Given the description of an element on the screen output the (x, y) to click on. 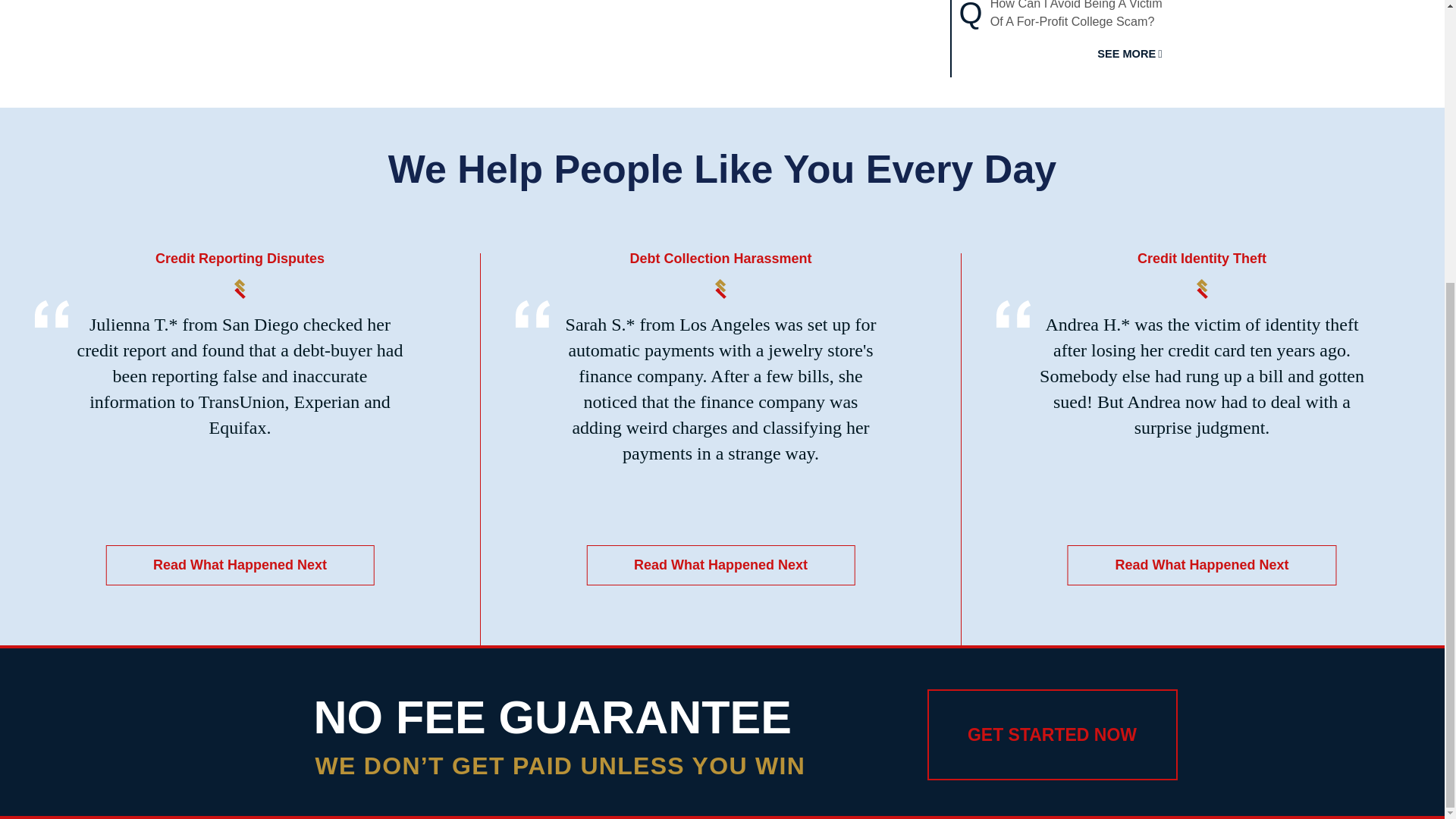
Read What Happened Next (239, 565)
Read What Happened Next (1201, 565)
Read What Happened Next (720, 565)
SEE MORE (1129, 53)
GET STARTED NOW (1051, 734)
